Given the description of an element on the screen output the (x, y) to click on. 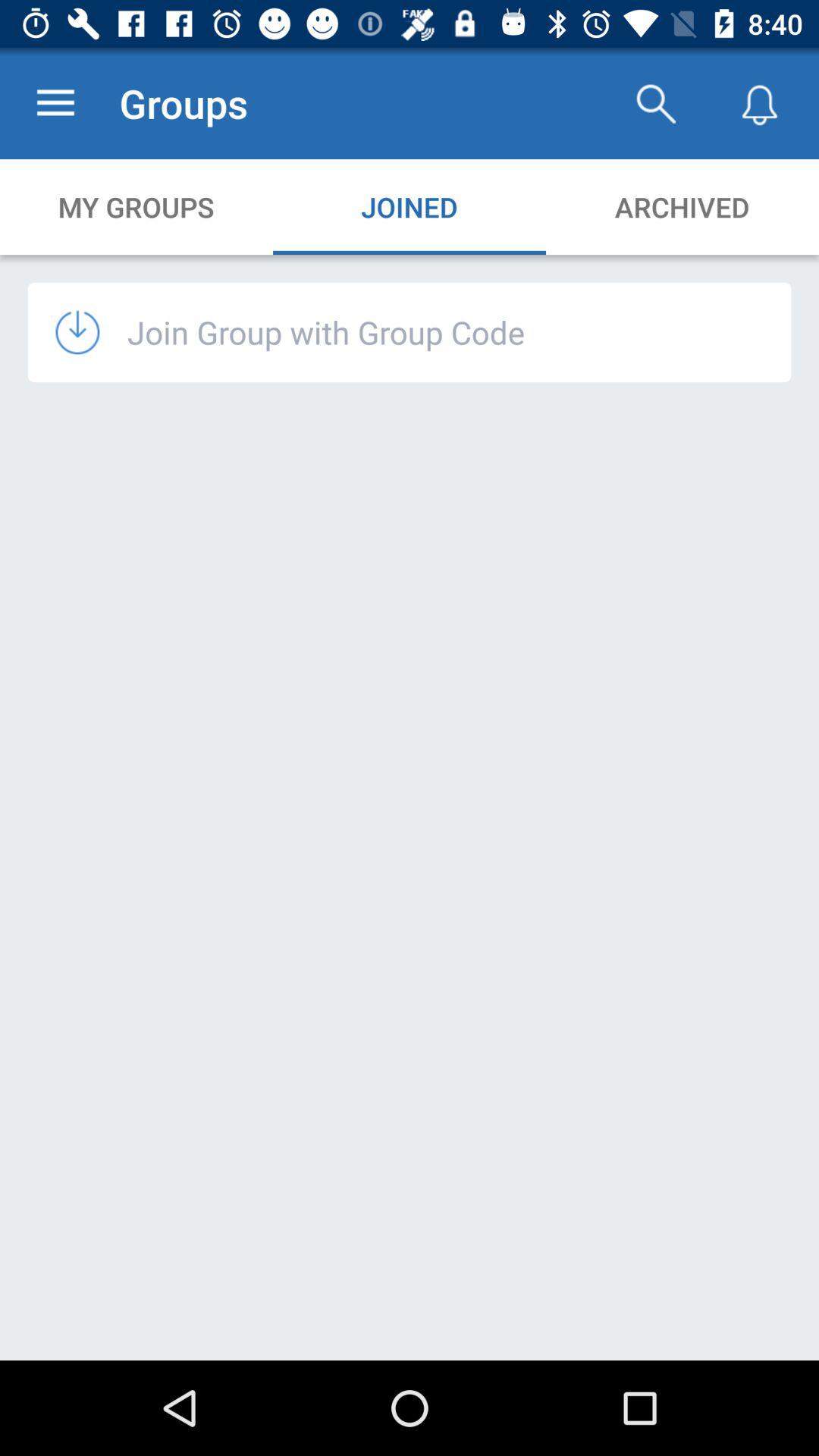
select the icon to the left of join group with icon (91, 332)
